Given the description of an element on the screen output the (x, y) to click on. 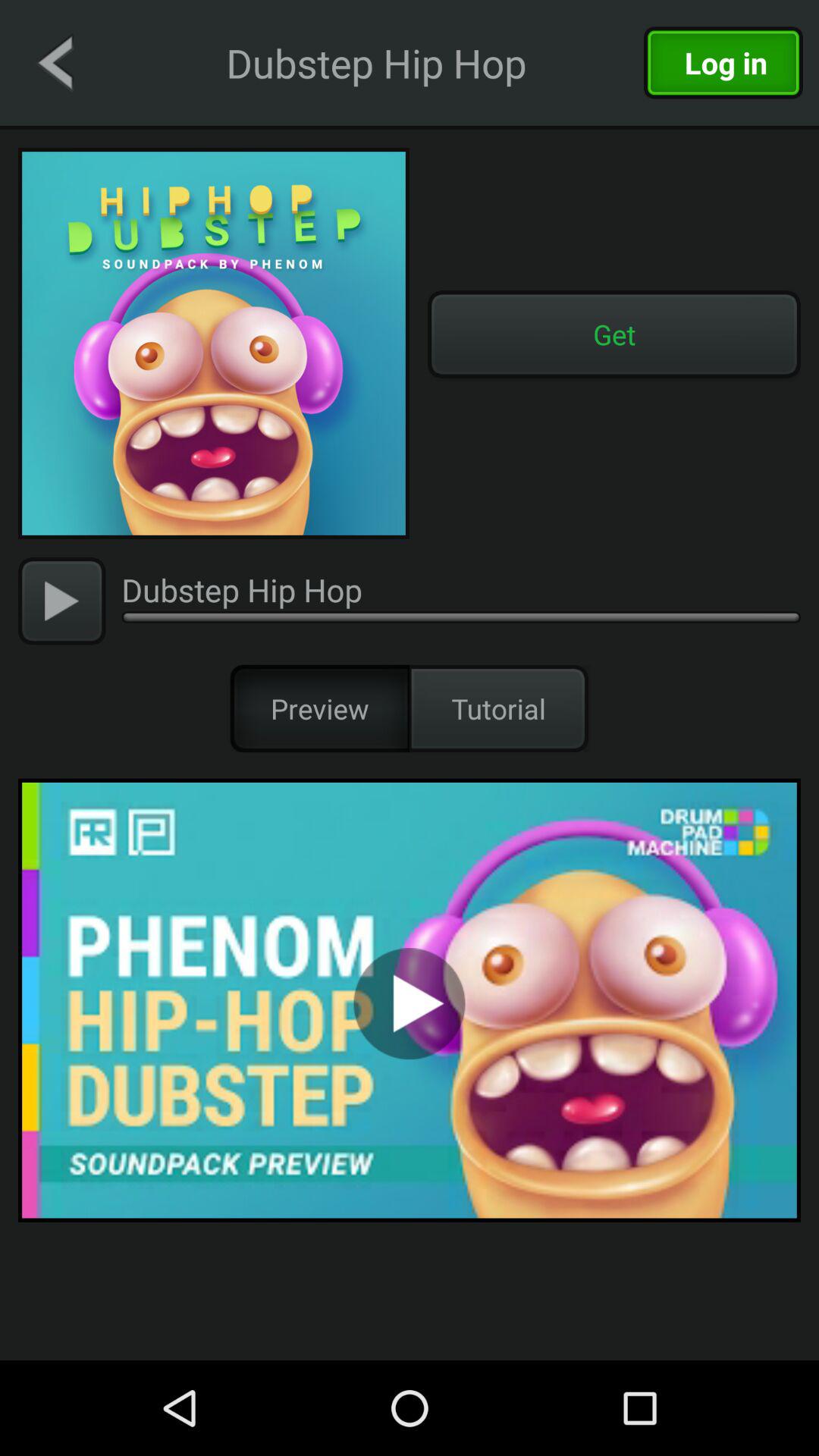
next (61, 600)
